Given the description of an element on the screen output the (x, y) to click on. 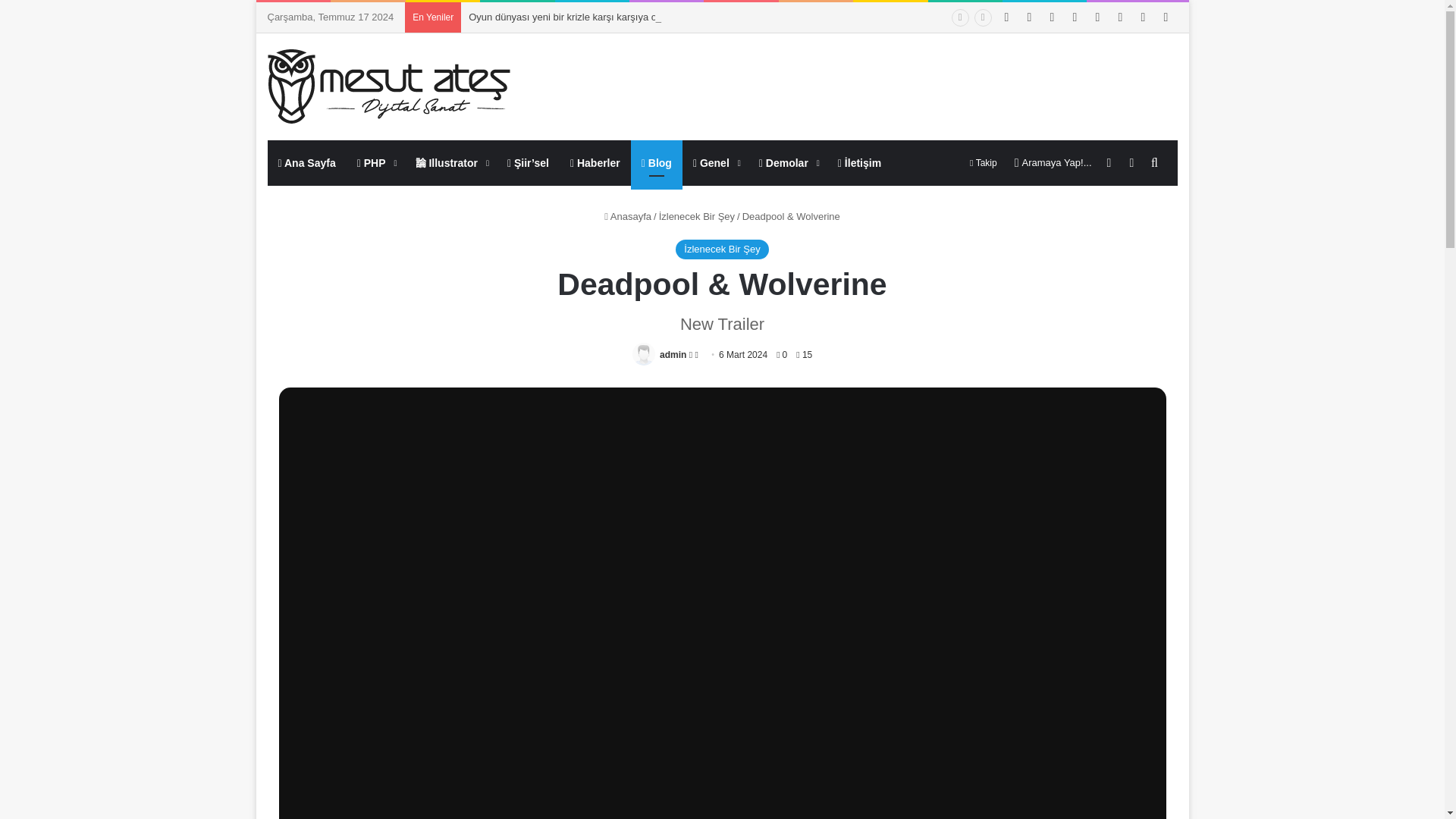
Ana Sayfa (306, 162)
Dribbble (1074, 17)
GitHub (1097, 17)
Haberler (594, 162)
Blog (656, 162)
WhatsApp (1142, 17)
Demolar (787, 162)
X (1029, 17)
PHP (375, 162)
Facebook (1005, 17)
admin (672, 354)
Pinterest (1051, 17)
Genel (715, 162)
Twitter'da takip edin (691, 354)
Illustrator (450, 162)
